Given the description of an element on the screen output the (x, y) to click on. 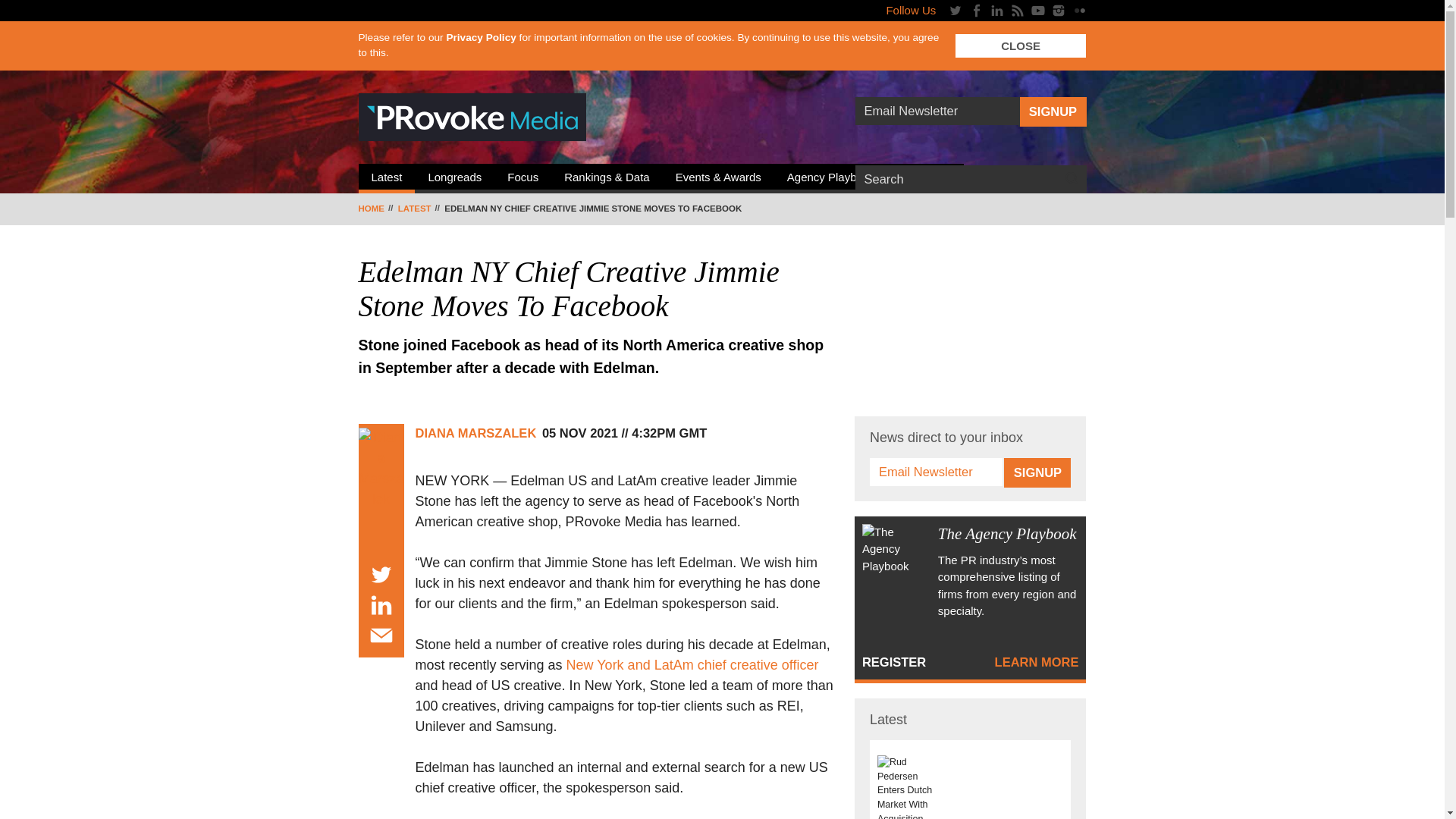
SIGNUP (1051, 111)
A-Z News (925, 178)
Latest (419, 208)
Privacy Policy (480, 37)
Agency Playbook (831, 178)
Latest (386, 178)
Focus (523, 178)
Home (376, 208)
Longreads (454, 178)
CLOSE (1020, 45)
